Given the description of an element on the screen output the (x, y) to click on. 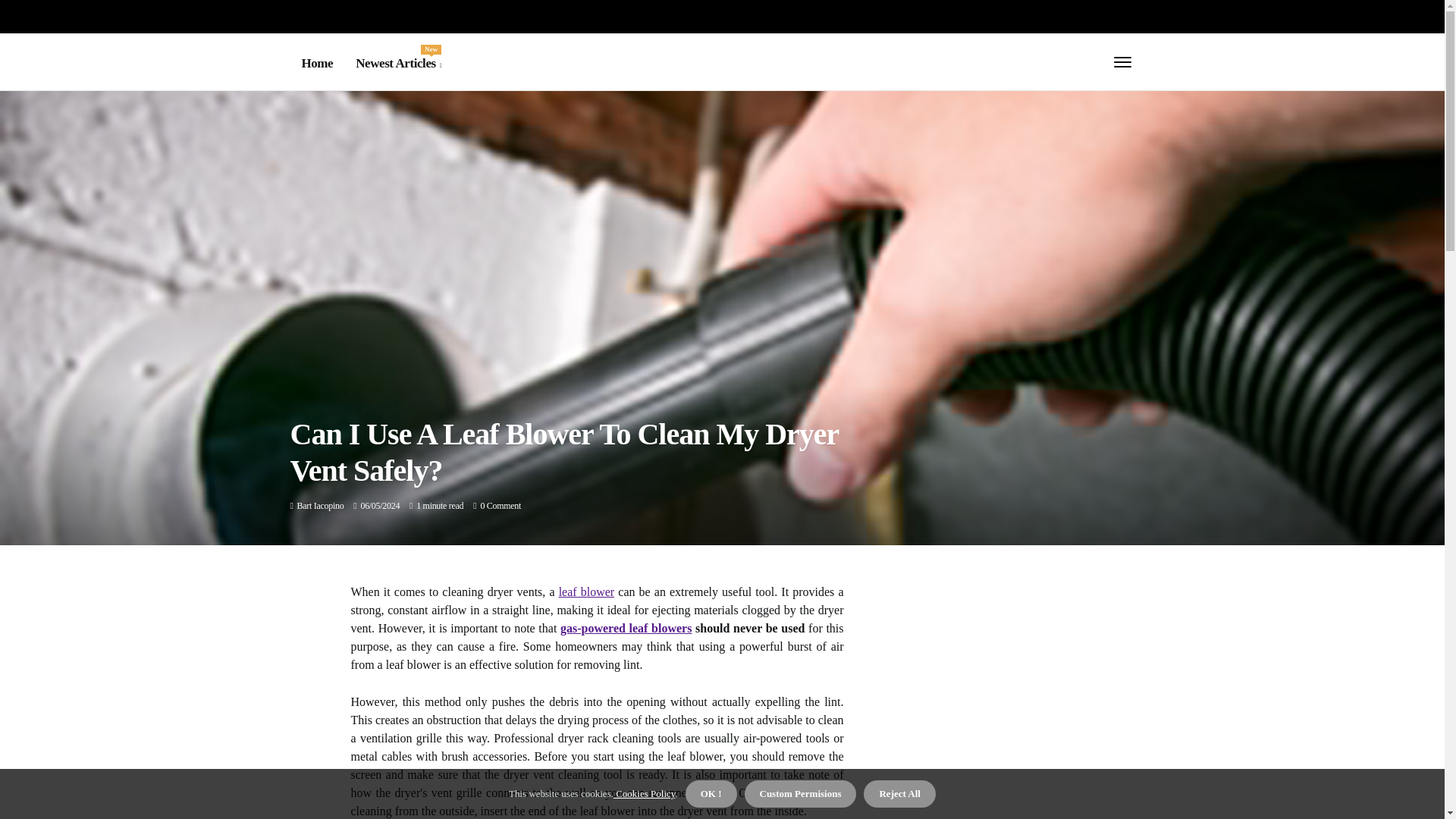
0 Comment (500, 505)
gas-powered leaf blowers (625, 627)
Posts by Bart Iacopino (320, 505)
leaf blower (586, 591)
Bart Iacopino (398, 63)
